Given the description of an element on the screen output the (x, y) to click on. 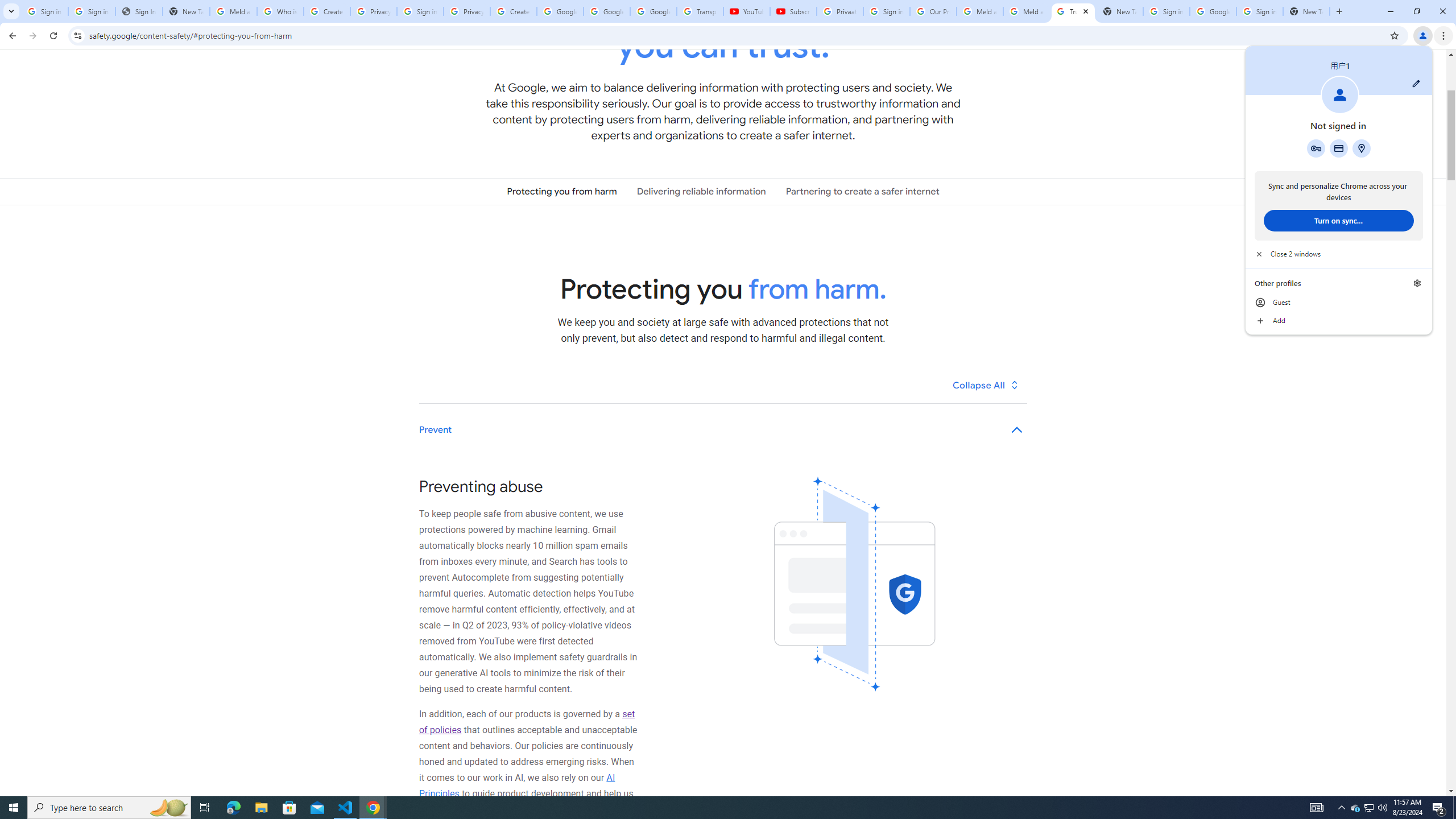
Notification Chevron (1341, 807)
Guest (1338, 302)
Google Cybersecurity Innovations - Google Safety Center (1213, 11)
Sign in - Google Accounts (886, 11)
Microsoft Edge (233, 807)
Payment methods (1338, 148)
Q2790: 100% (1382, 807)
Add (1338, 321)
Sign in - Google Accounts (419, 11)
